Given the description of an element on the screen output the (x, y) to click on. 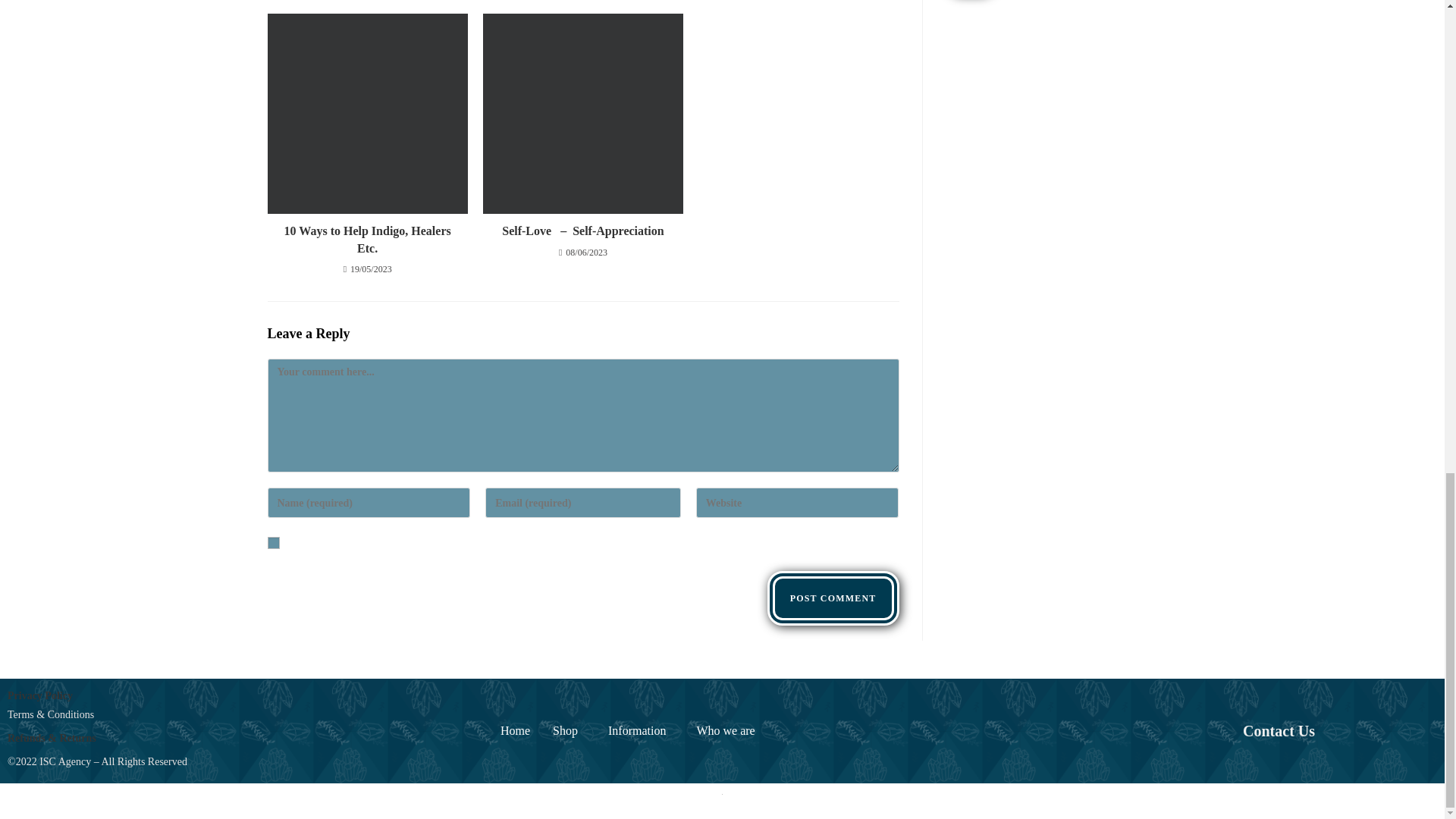
yes (272, 542)
Post Comment (833, 597)
Post Comment (833, 597)
10 Ways to Help Indigo, Healers Etc. (367, 239)
